Given the description of an element on the screen output the (x, y) to click on. 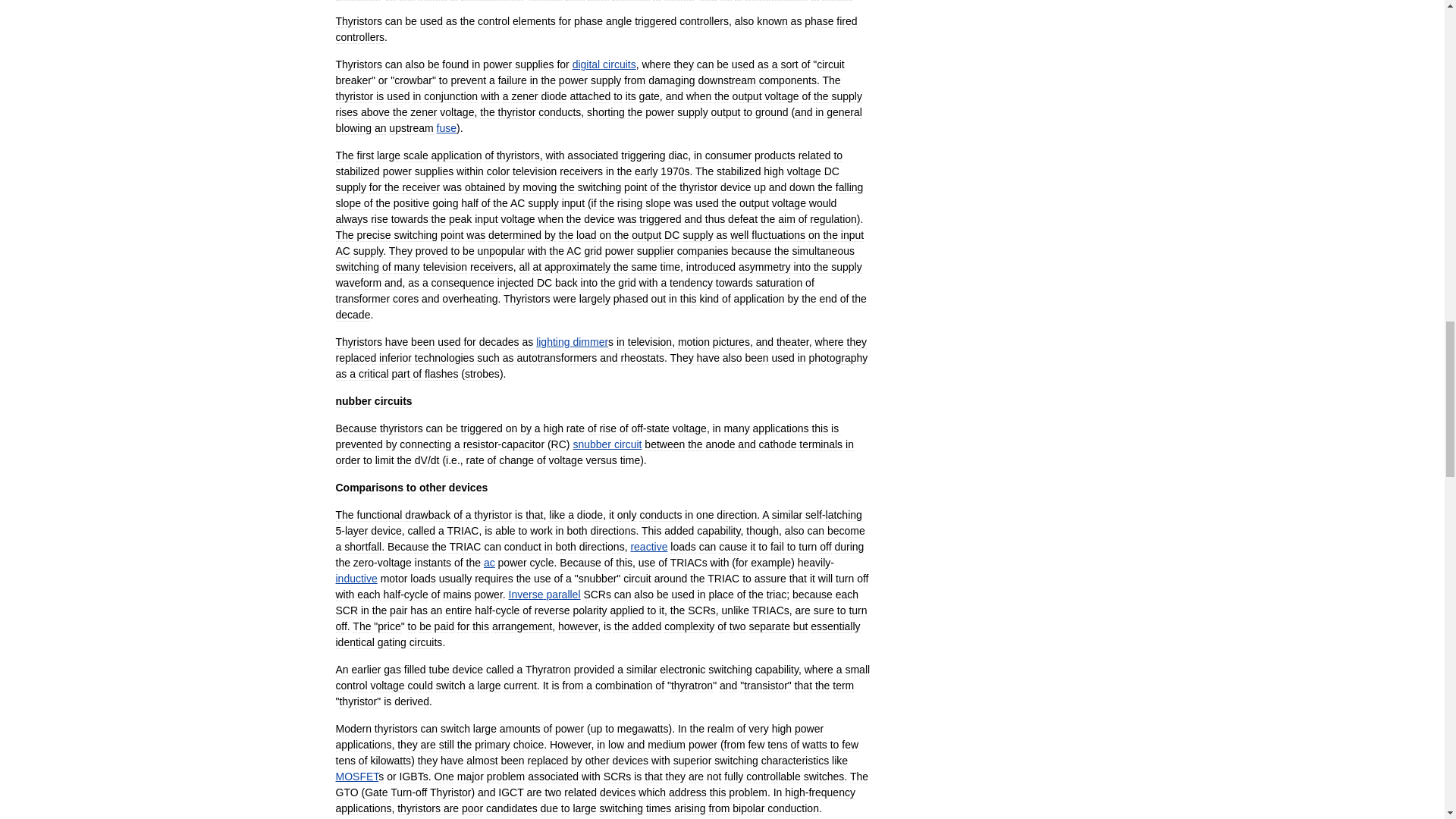
digital circuits (604, 64)
MOSFET (356, 776)
reactive (648, 546)
snubber circuit (607, 444)
Inverse parallel (544, 594)
fuse (446, 128)
lighting dimmer (571, 341)
inductive (355, 578)
ac (489, 562)
